Given the description of an element on the screen output the (x, y) to click on. 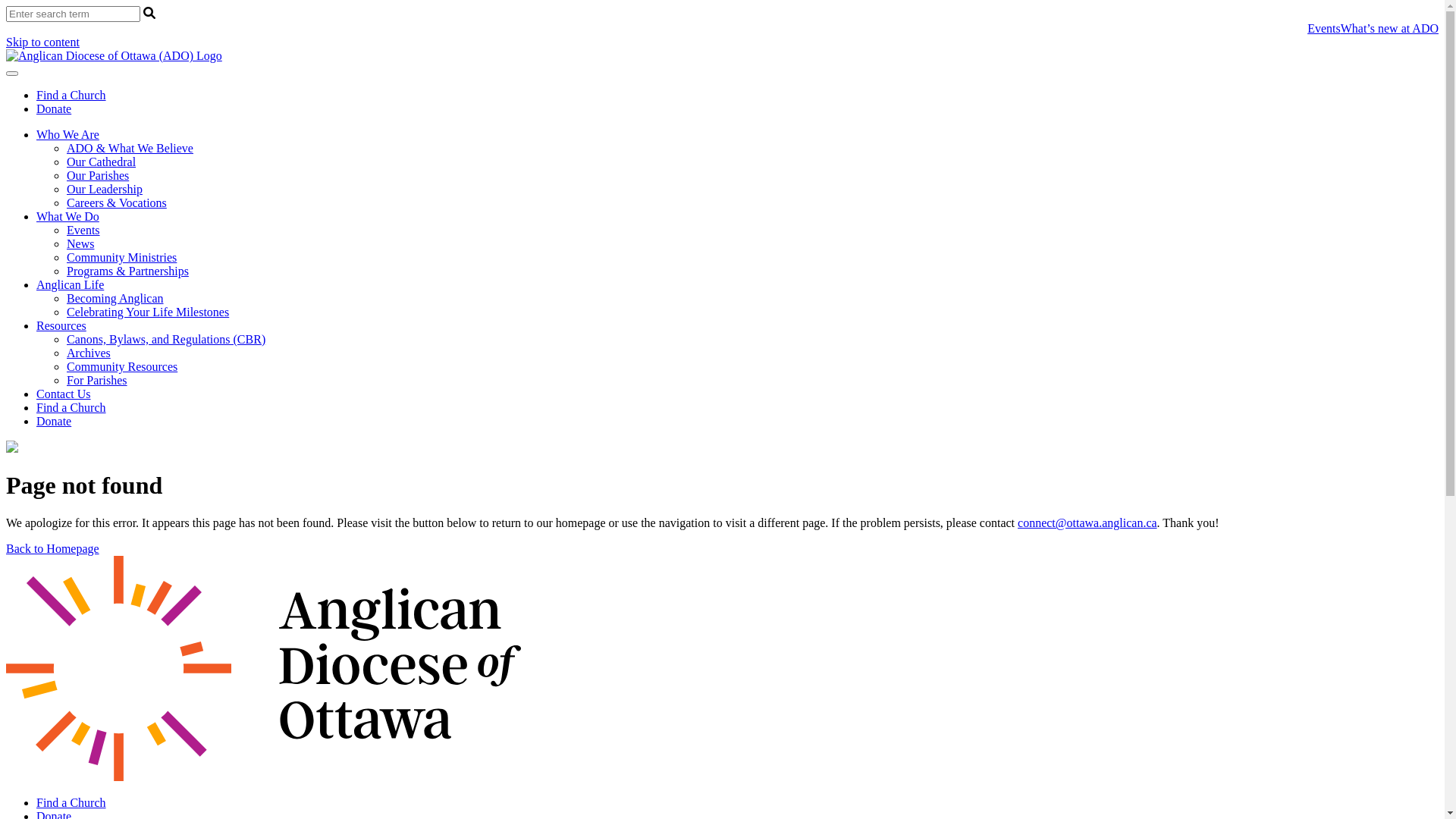
Events Element type: text (83, 229)
Our Parishes Element type: text (97, 175)
Community Ministries Element type: text (121, 257)
Anglican Life Element type: text (69, 284)
Careers & Vocations Element type: text (116, 202)
Canons, Bylaws, and Regulations (CBR) Element type: text (165, 338)
Our Leadership Element type: text (104, 188)
Contact Us Element type: text (63, 393)
For Parishes Element type: text (96, 379)
Events Element type: text (1323, 27)
ADO & What We Believe Element type: text (129, 147)
Resources Element type: text (61, 325)
Donate Element type: text (53, 420)
Skip to content Element type: text (42, 41)
Find a Church Element type: text (71, 802)
Our Cathedral Element type: text (100, 161)
Find a Church Element type: text (71, 407)
Who We Are Element type: text (67, 134)
What We Do Element type: text (67, 216)
Find a Church Element type: text (71, 94)
News Element type: text (80, 243)
Celebrating Your Life Milestones Element type: text (147, 311)
Community Resources Element type: text (121, 366)
Programs & Partnerships Element type: text (127, 270)
Archives Element type: text (88, 352)
Donate Element type: text (53, 108)
Becoming Anglican Element type: text (114, 297)
Back to Homepage Element type: text (52, 548)
connect@ottawa.anglican.ca Element type: text (1087, 522)
